Given the description of an element on the screen output the (x, y) to click on. 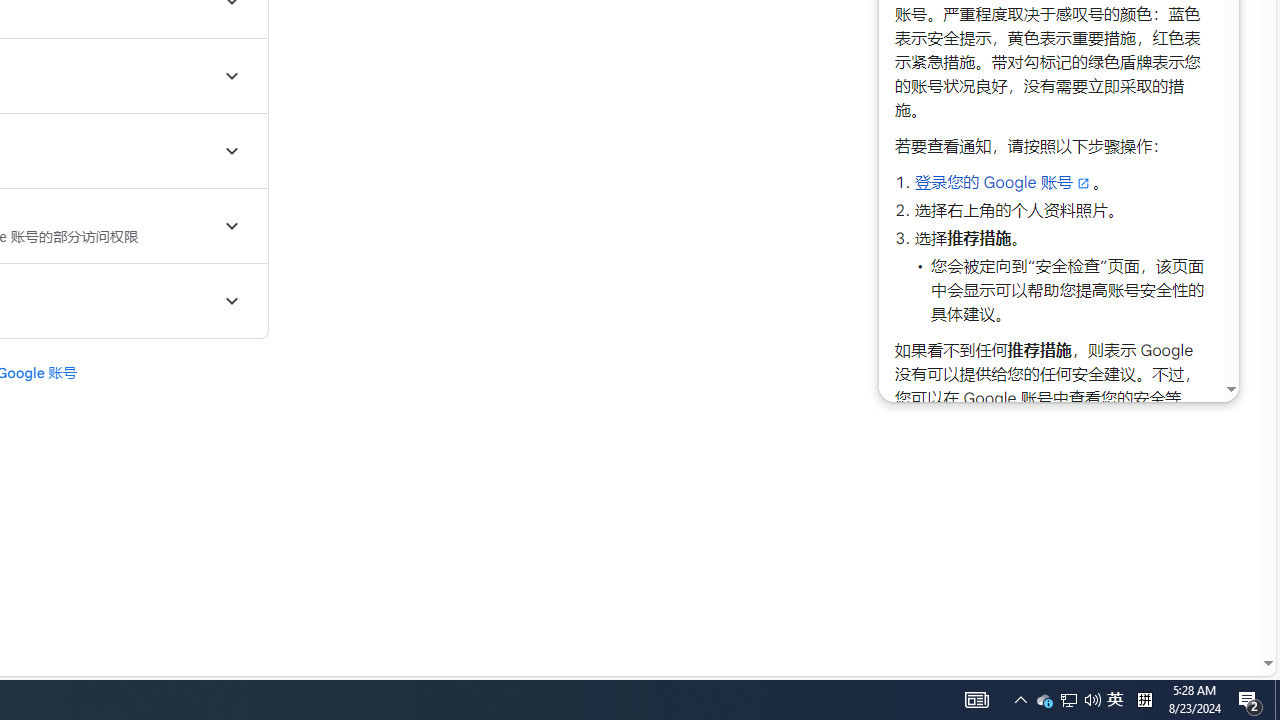
Action Center, 2 new notifications (1250, 699)
User Promoted Notification Area (1069, 699)
Notification Chevron (1115, 699)
AutomationID: 4105 (1068, 699)
Show desktop (1020, 699)
Q2790: 100% (976, 699)
